Given the description of an element on the screen output the (x, y) to click on. 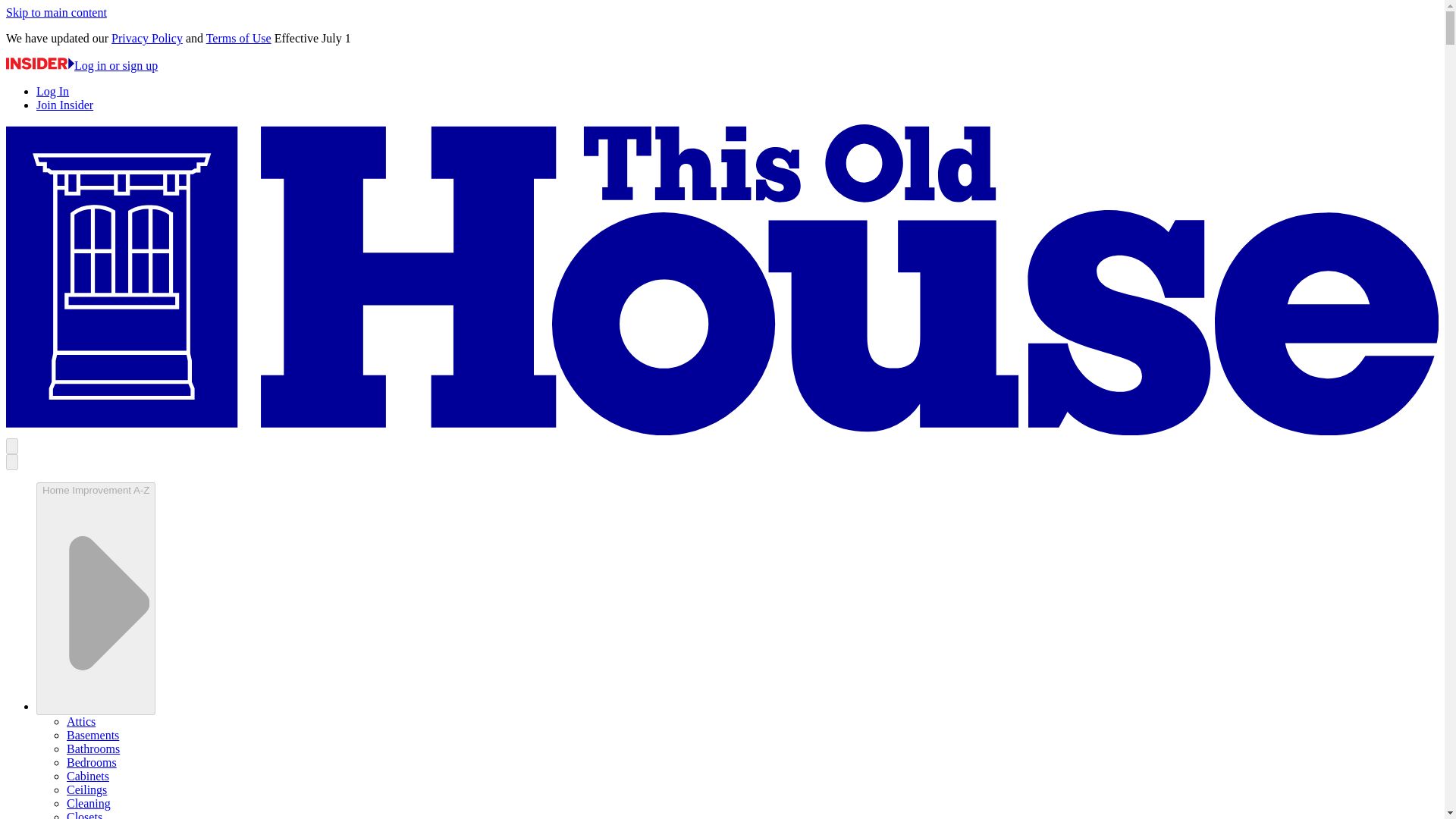
Bedrooms (91, 762)
Cabinets (87, 775)
Basements (92, 735)
Bathrooms (92, 748)
Log In (52, 91)
Ceilings (86, 789)
Terms of Use (238, 38)
Cleaning (88, 802)
Skip to main content (55, 11)
Attics (81, 721)
